Given the description of an element on the screen output the (x, y) to click on. 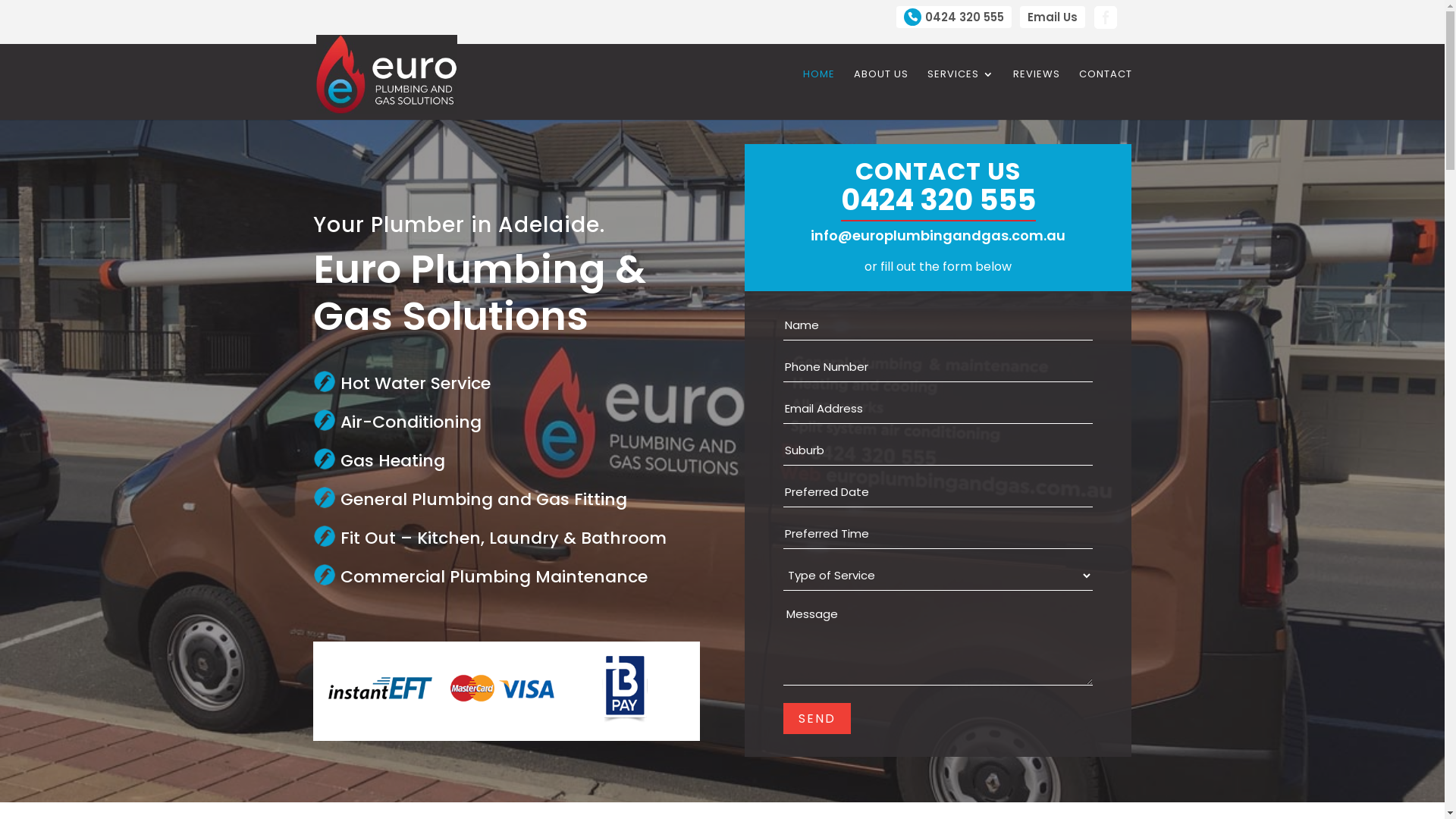
Commercial Plumbing Maintenance Element type: text (492, 576)
HOME Element type: text (818, 86)
Email Us Element type: text (1051, 17)
0424 320 555 Element type: text (953, 17)
REVIEWS Element type: text (1036, 86)
Gas Heating Element type: text (391, 460)
SERVICES Element type: text (959, 86)
info@europlumbingandgas.com.au Element type: text (937, 234)
Hot Water Service Element type: text (414, 383)
Send Element type: text (816, 718)
0424 320 555 Element type: text (937, 200)
CONTACT Element type: text (1104, 86)
ABOUT US Element type: text (880, 86)
Air-Conditioning Element type: text (409, 421)
General Plumbing and Gas Fitting Element type: text (482, 499)
